Given the description of an element on the screen output the (x, y) to click on. 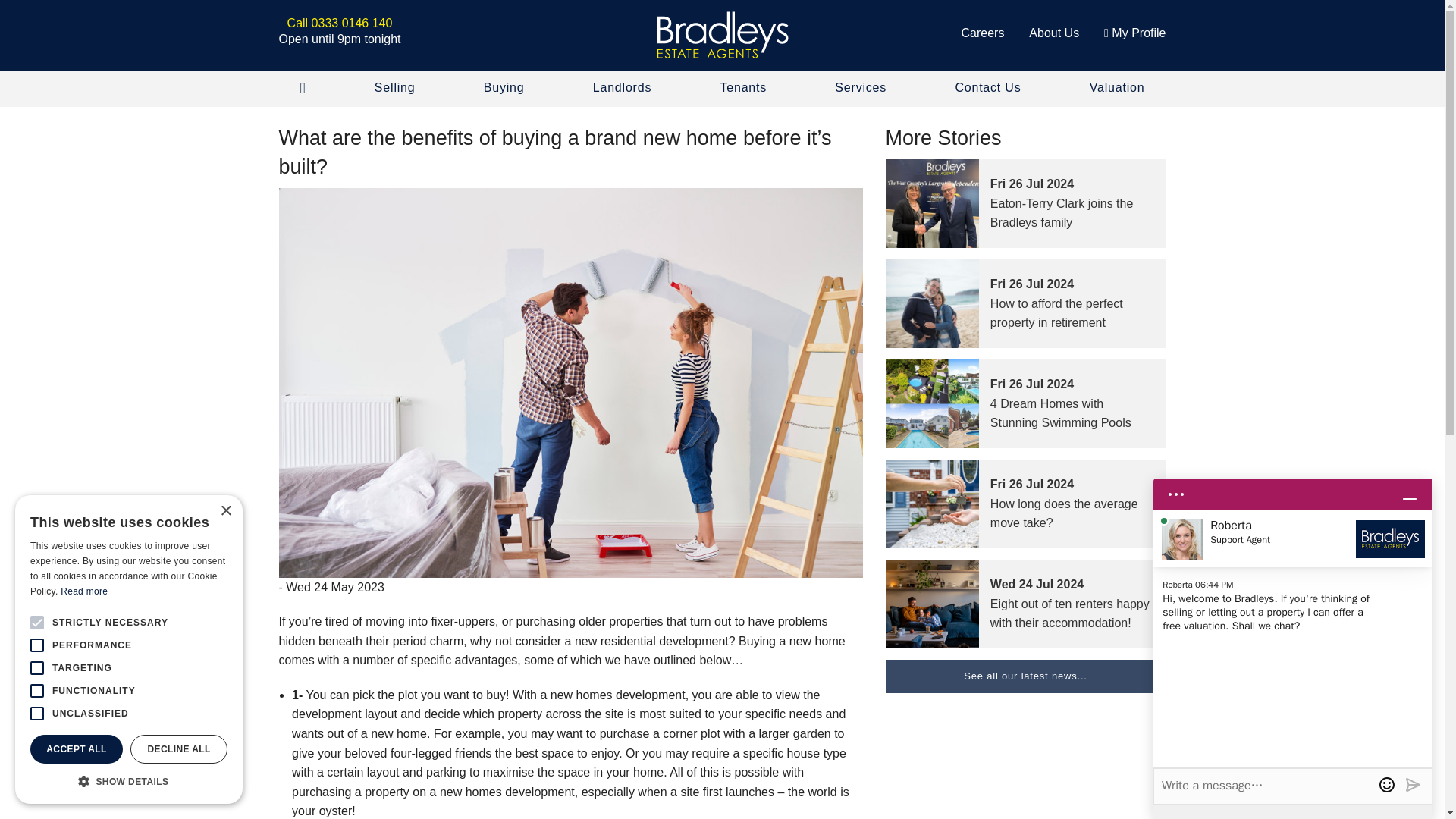
Landlords (622, 88)
Services (860, 88)
Bradleys Estate Agents (721, 34)
Call 0333 0146 140 (339, 22)
About Us (1053, 32)
Valuation (1117, 88)
Buying (504, 88)
Return to Home Page (721, 34)
Careers (982, 32)
Selling (394, 88)
Tenants (742, 88)
Contact Us (987, 88)
My Profile (1134, 32)
